Given the description of an element on the screen output the (x, y) to click on. 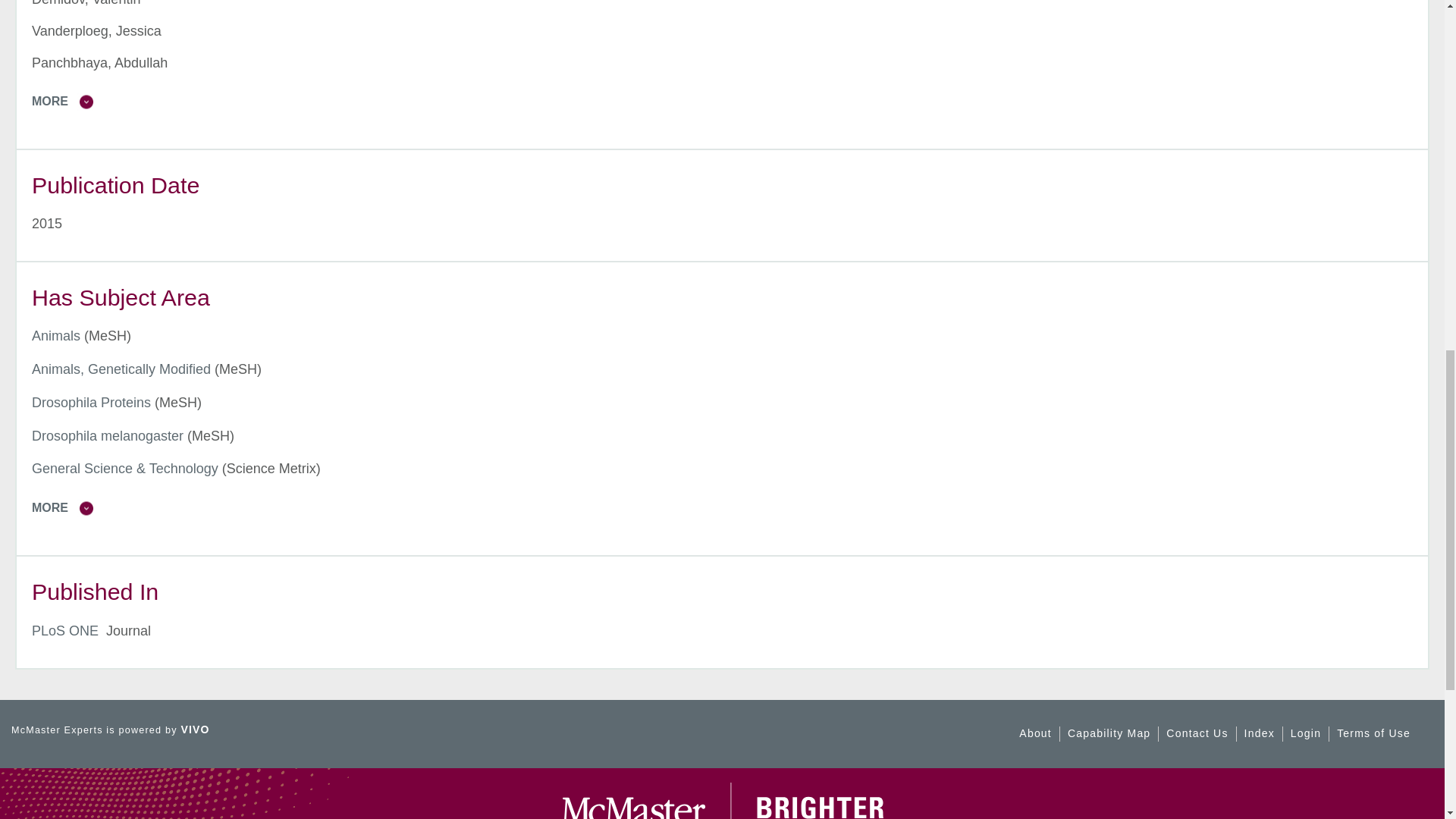
concept name (125, 468)
concept name (91, 402)
concept name (121, 368)
show more content (730, 101)
concept name (107, 435)
concept name (56, 335)
